Given the description of an element on the screen output the (x, y) to click on. 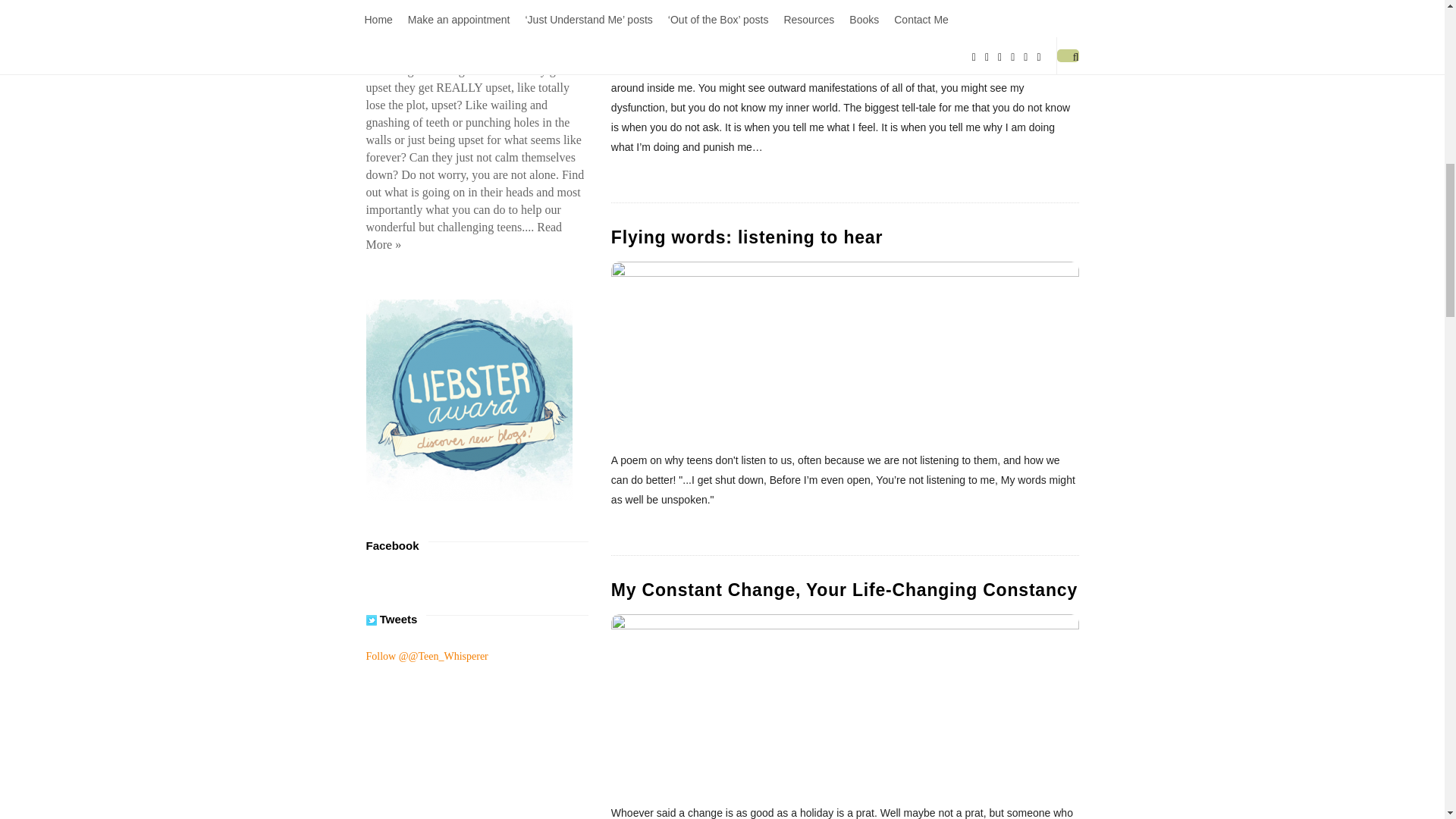
Flying words: listening to hear (746, 237)
My Constant Change, Your Life-Changing Constancy (844, 699)
Tweets (370, 620)
My Constant Change, Your Life-Changing Constancy (844, 589)
Flying words: listening to hear (844, 346)
